Given the description of an element on the screen output the (x, y) to click on. 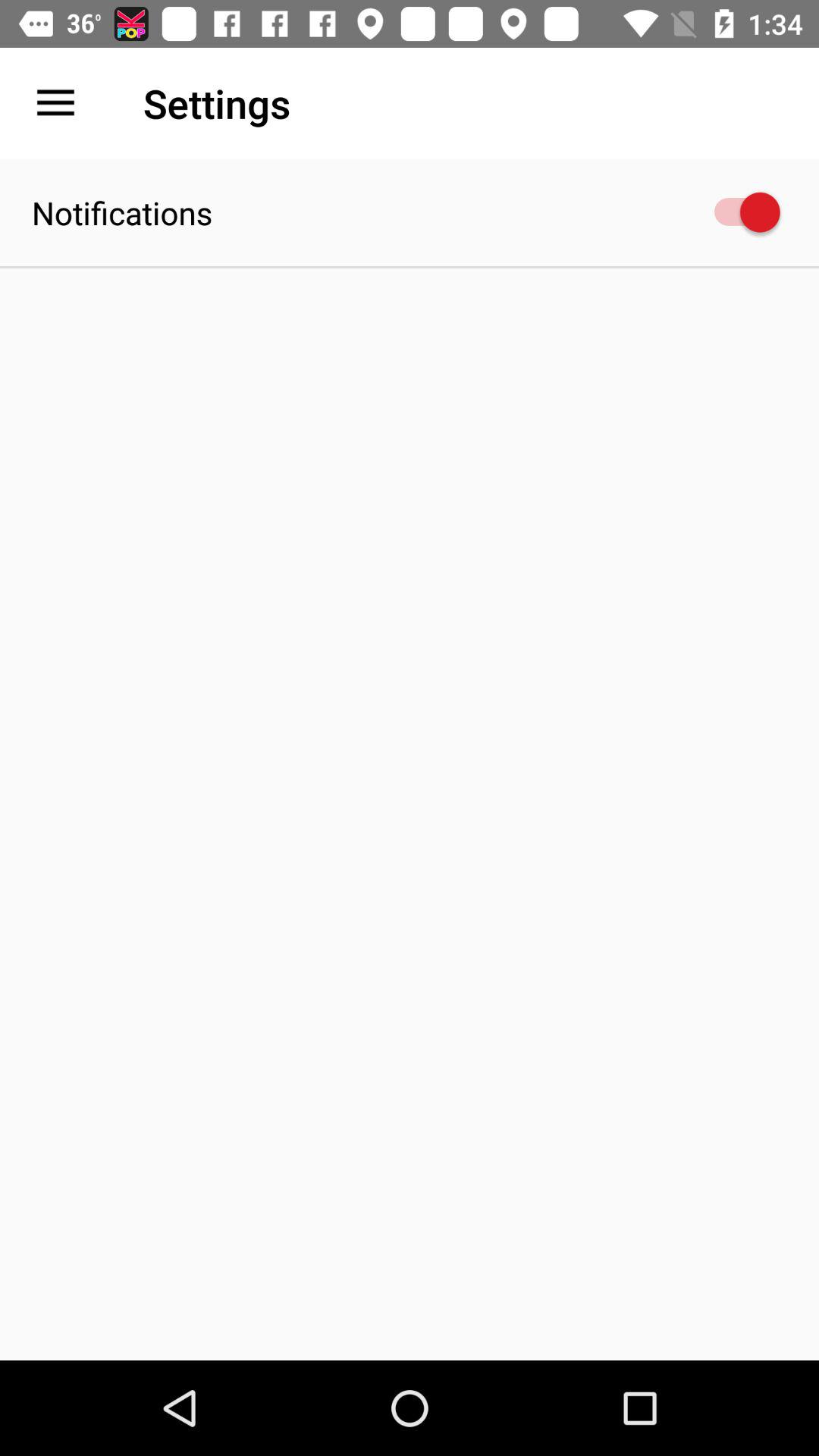
open the icon to the left of the settings item (55, 103)
